Given the description of an element on the screen output the (x, y) to click on. 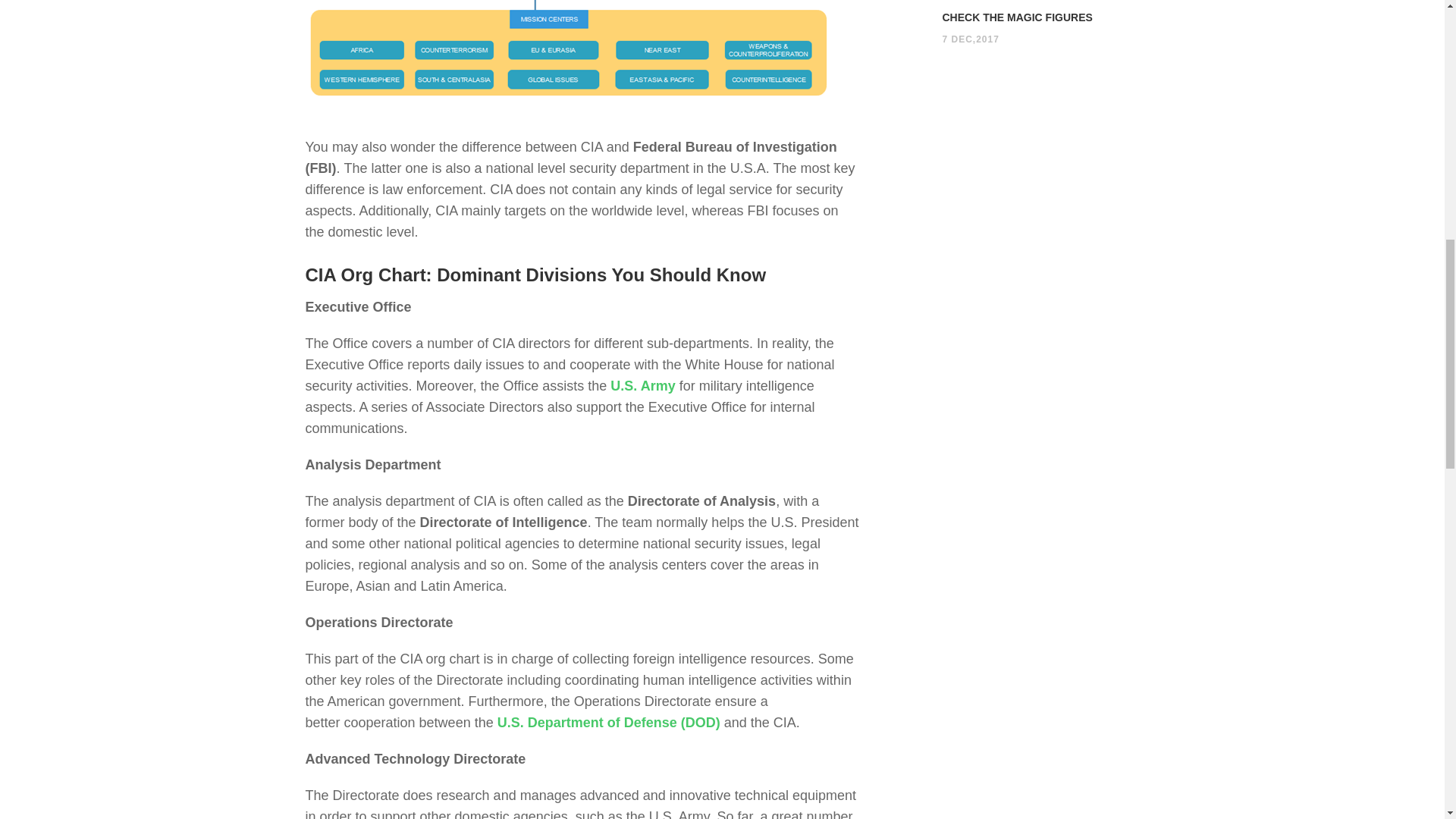
U.S. Army (642, 385)
